Given the description of an element on the screen output the (x, y) to click on. 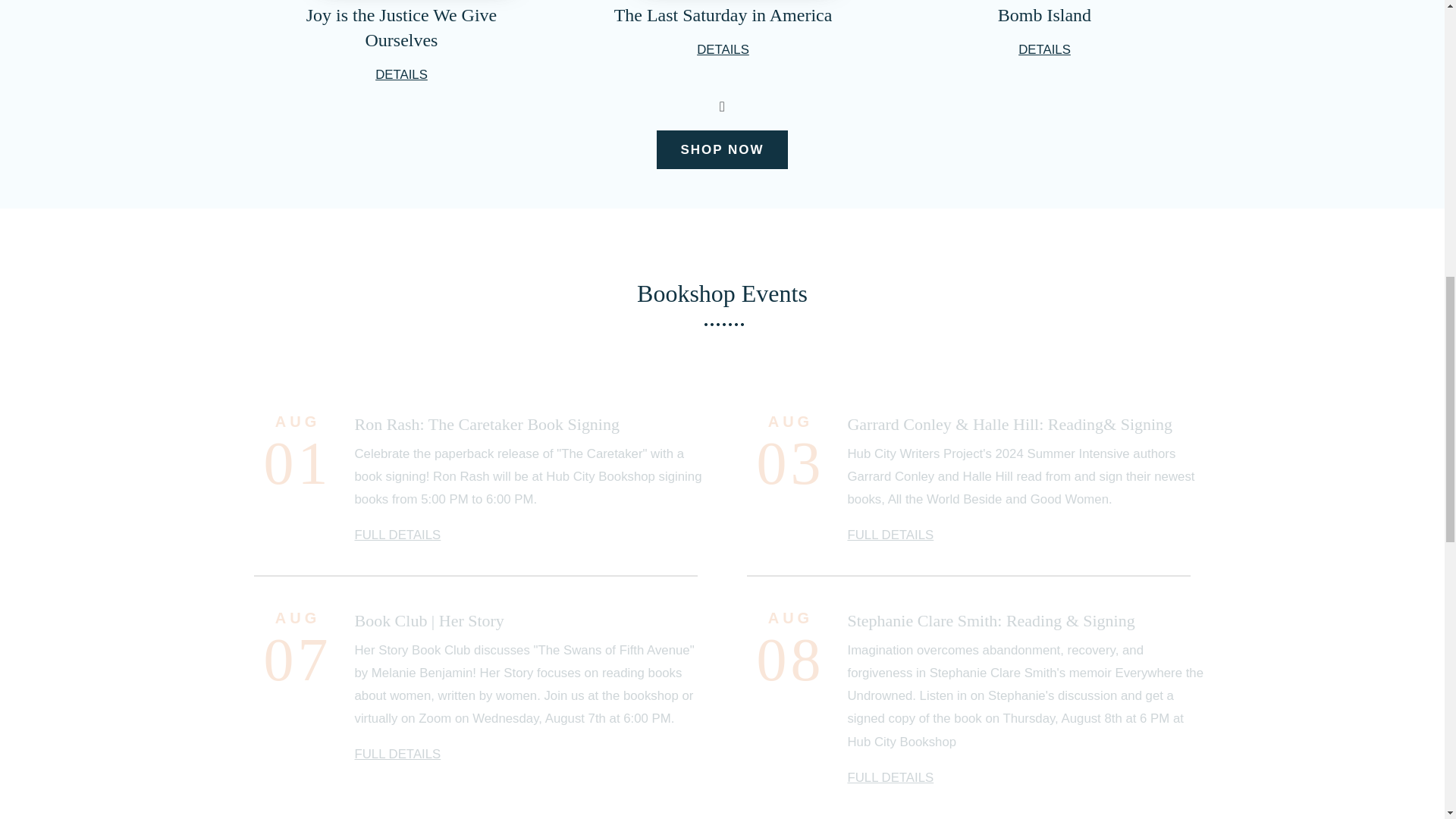
DETAILS (723, 49)
The Last Saturday in America (723, 14)
DETAILS (401, 74)
Joy is the Justice We Give Ourselves (400, 27)
